Given the description of an element on the screen output the (x, y) to click on. 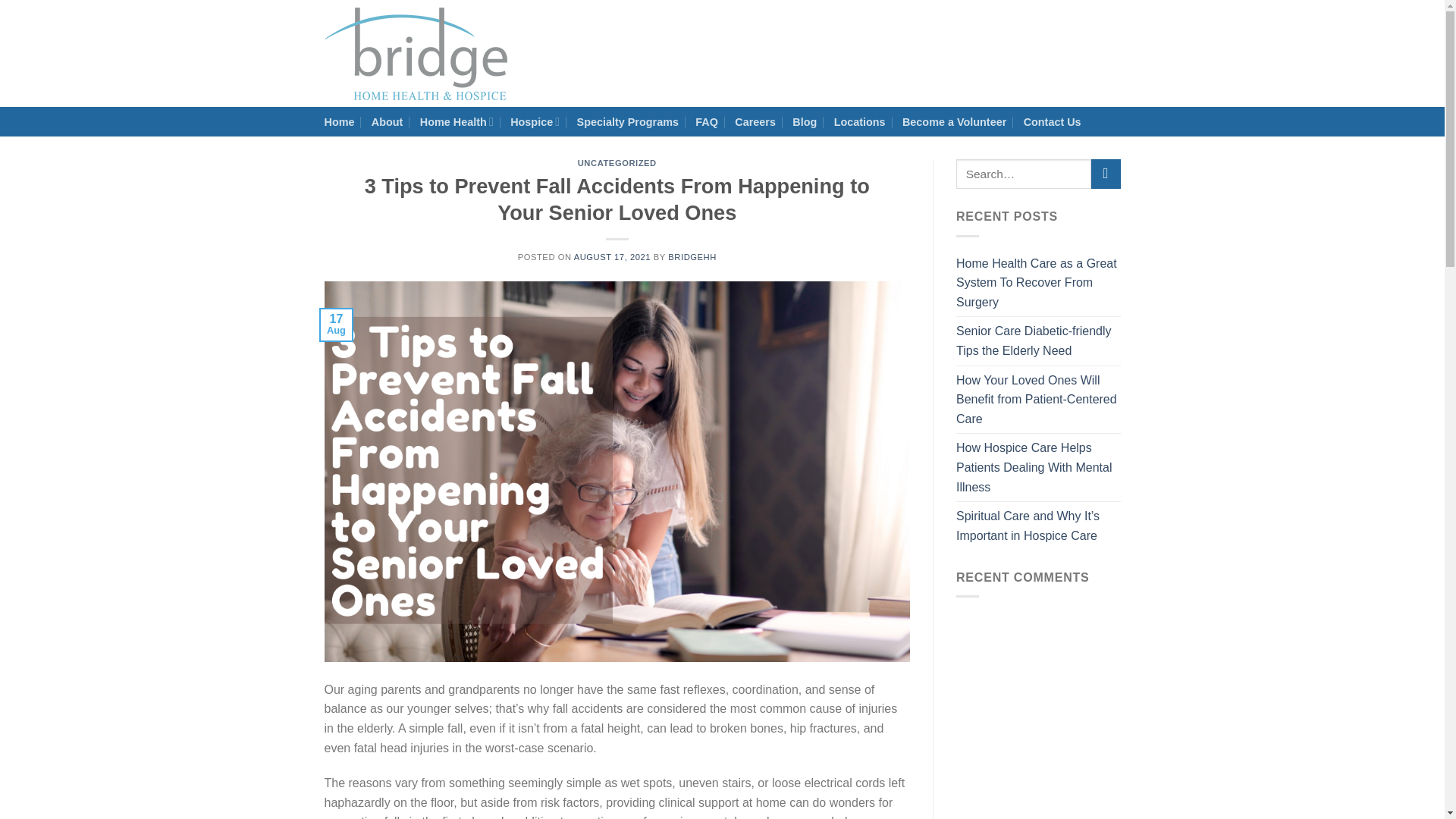
AUGUST 17, 2021 (611, 256)
Senior Care Diabetic-friendly Tips the Elderly Need (1038, 340)
Specialty Programs (627, 121)
BRIDGEHH (692, 256)
About (387, 121)
Home Health (456, 121)
UNCATEGORIZED (617, 162)
Hospice (535, 121)
How Hospice Care Helps Patients Dealing With Mental Illness (1038, 467)
How Your Loved Ones Will Benefit from Patient-Centered Care (1038, 400)
